Given the description of an element on the screen output the (x, y) to click on. 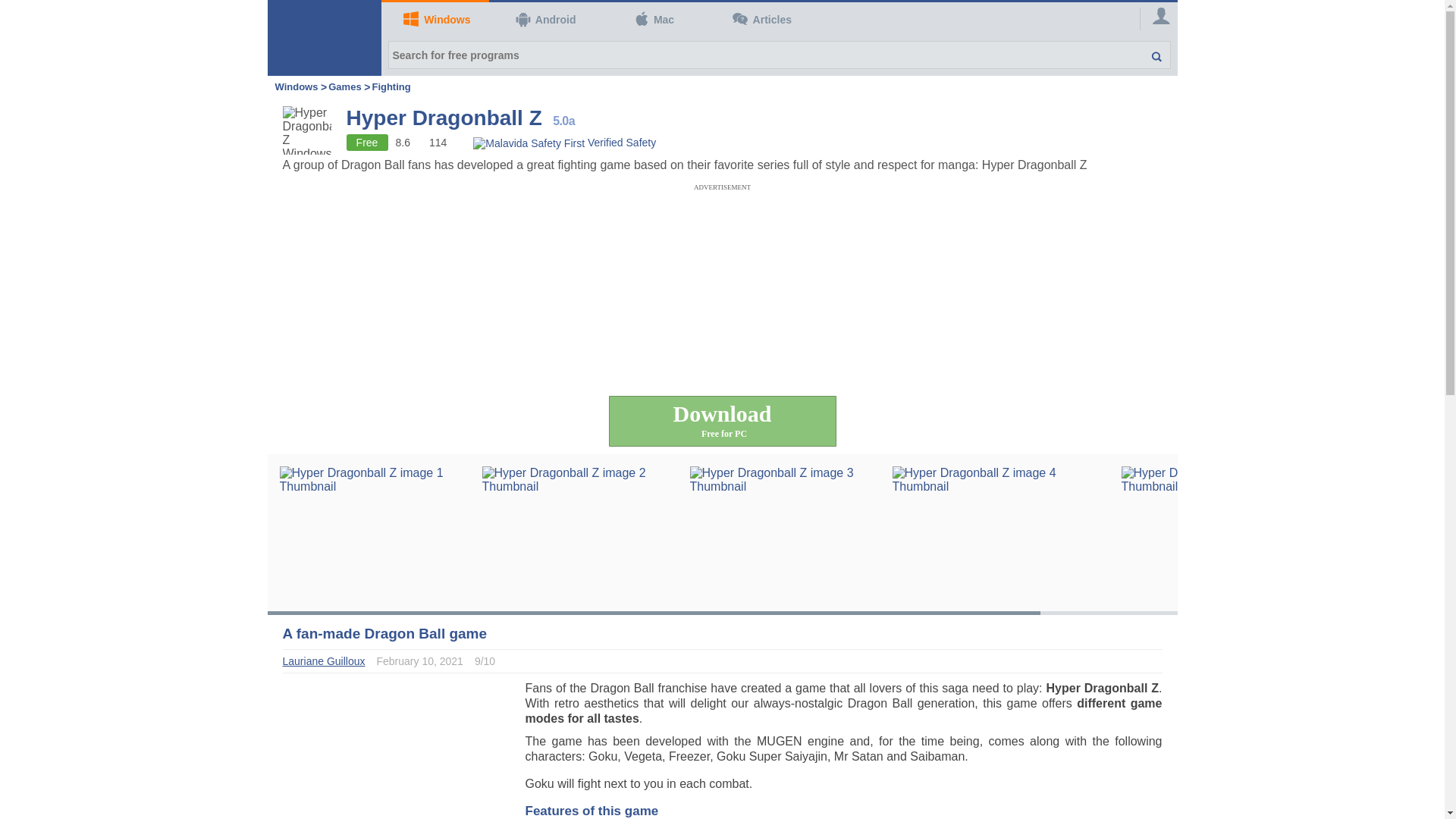
Hyper Dragonball Z image 5  (1216, 532)
Fighting Games for PC (390, 86)
Articles (760, 19)
Hyper Dragonball Z image 2  (578, 532)
Verified Safety (564, 141)
Games for PC (345, 86)
Malavida Safety First (721, 420)
Download programs free for Windows (564, 141)
user (434, 19)
